Given the description of an element on the screen output the (x, y) to click on. 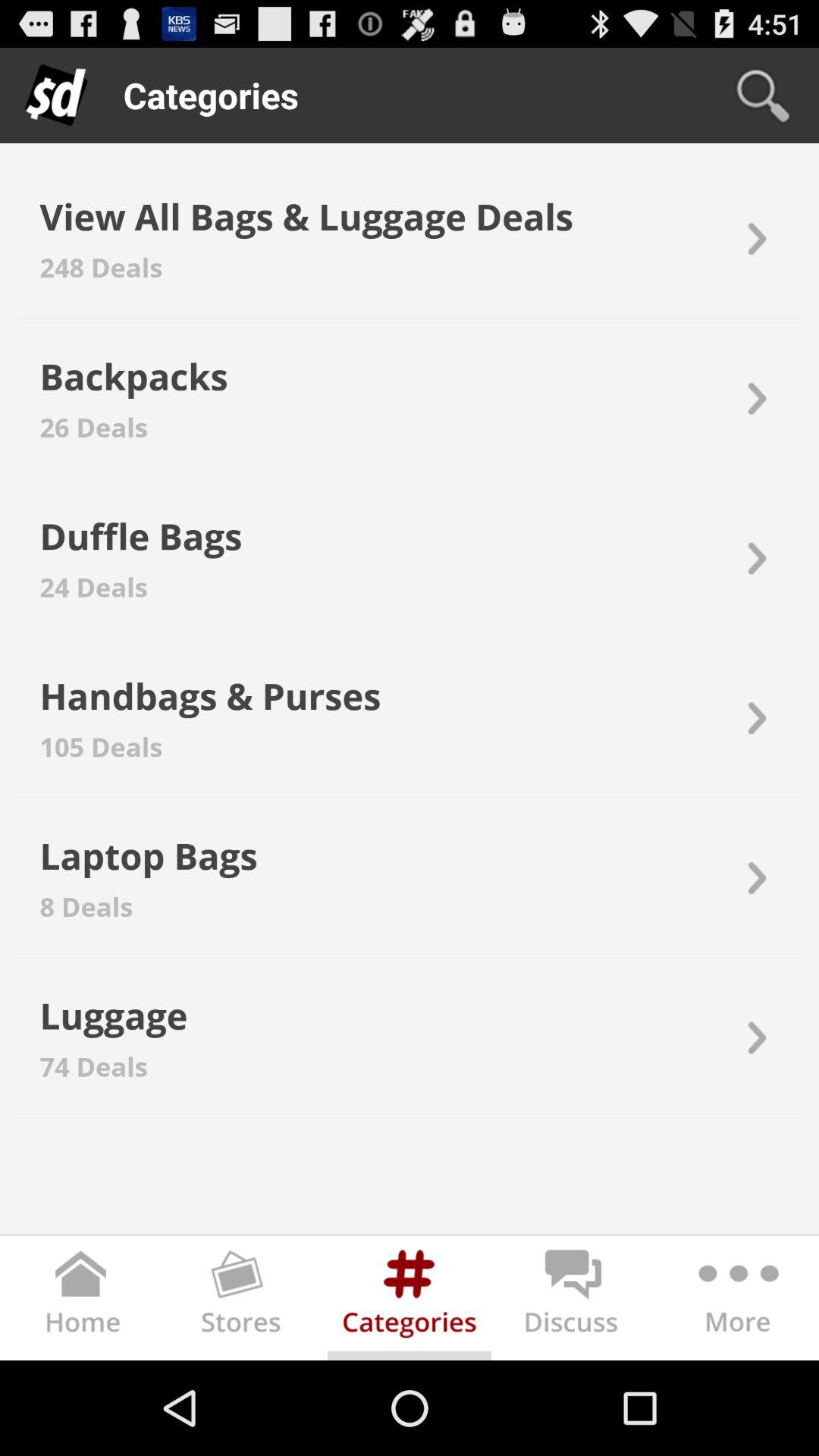
categories icon (409, 1301)
